Given the description of an element on the screen output the (x, y) to click on. 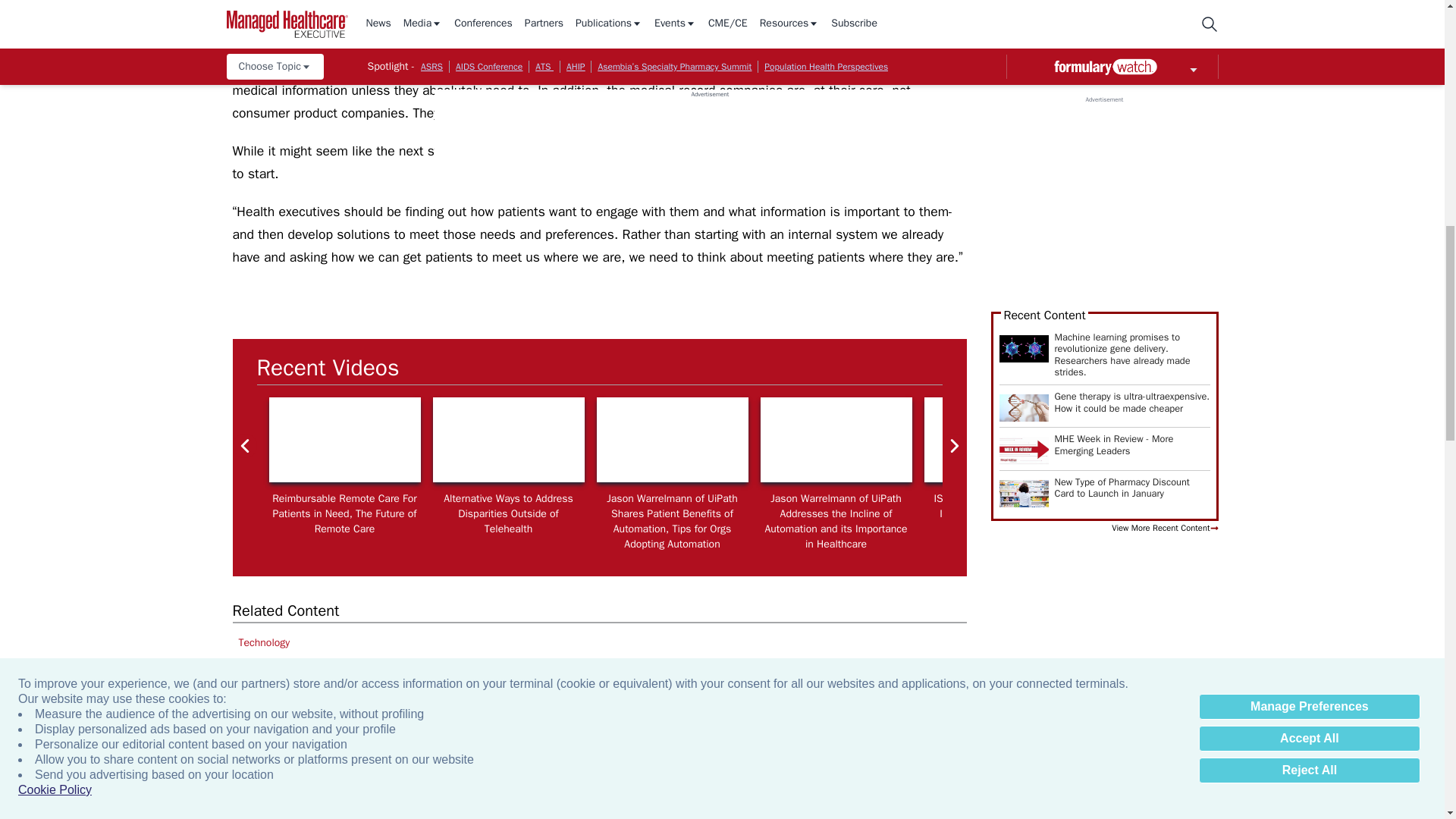
How COVID-19 Impacts the Move Toward Value-Based Care (1326, 440)
